Given the description of an element on the screen output the (x, y) to click on. 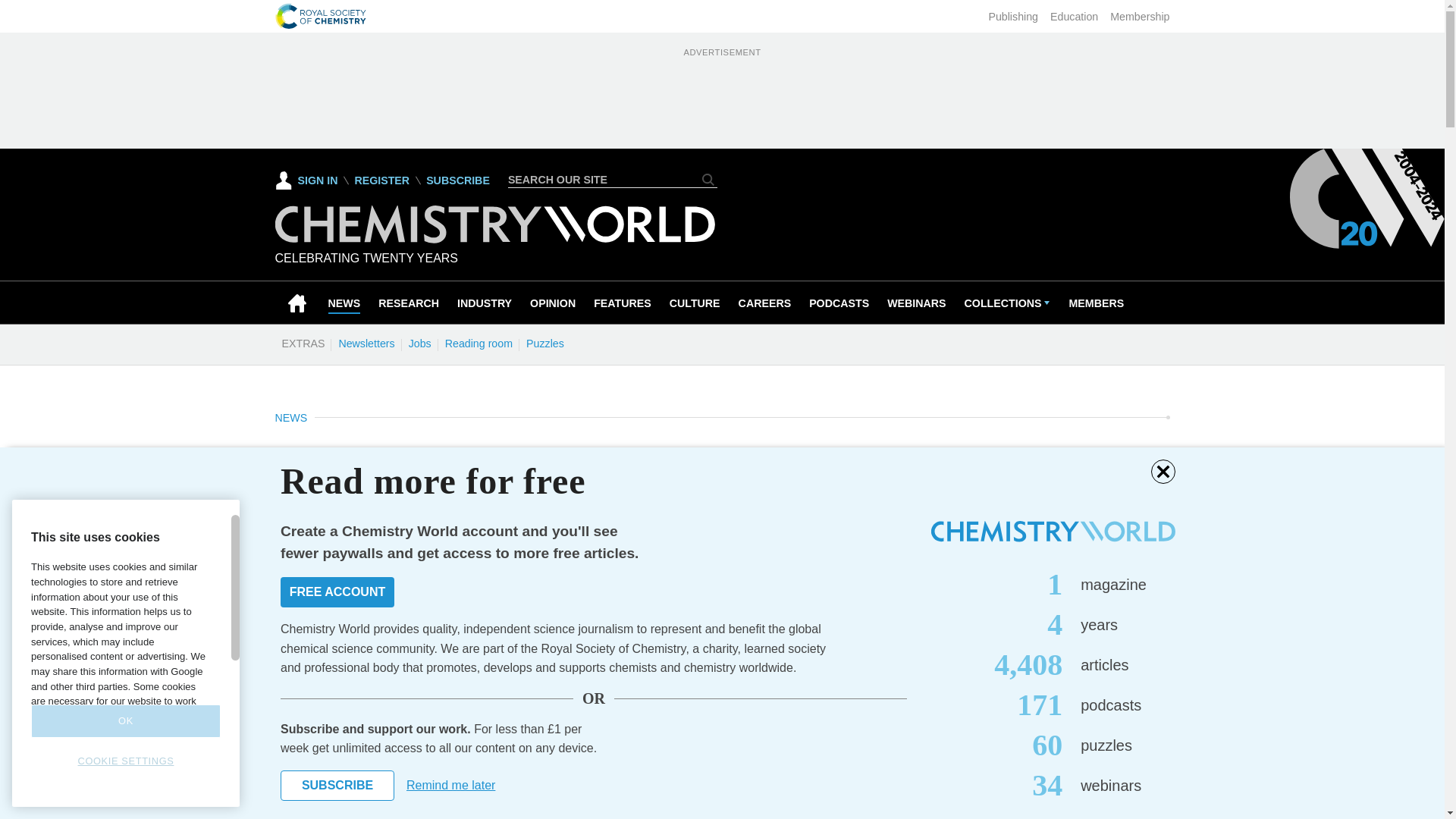
SUBSCRIBE (457, 180)
Share this on Facebook (288, 565)
Share this on WhatsApp (421, 565)
Chemistry World (494, 238)
NO COMMENTS (492, 574)
SIGN IN (306, 180)
Reading room (478, 343)
3rd party ad content (721, 94)
Publishing (1013, 16)
3rd party ad content (1055, 651)
